Given the description of an element on the screen output the (x, y) to click on. 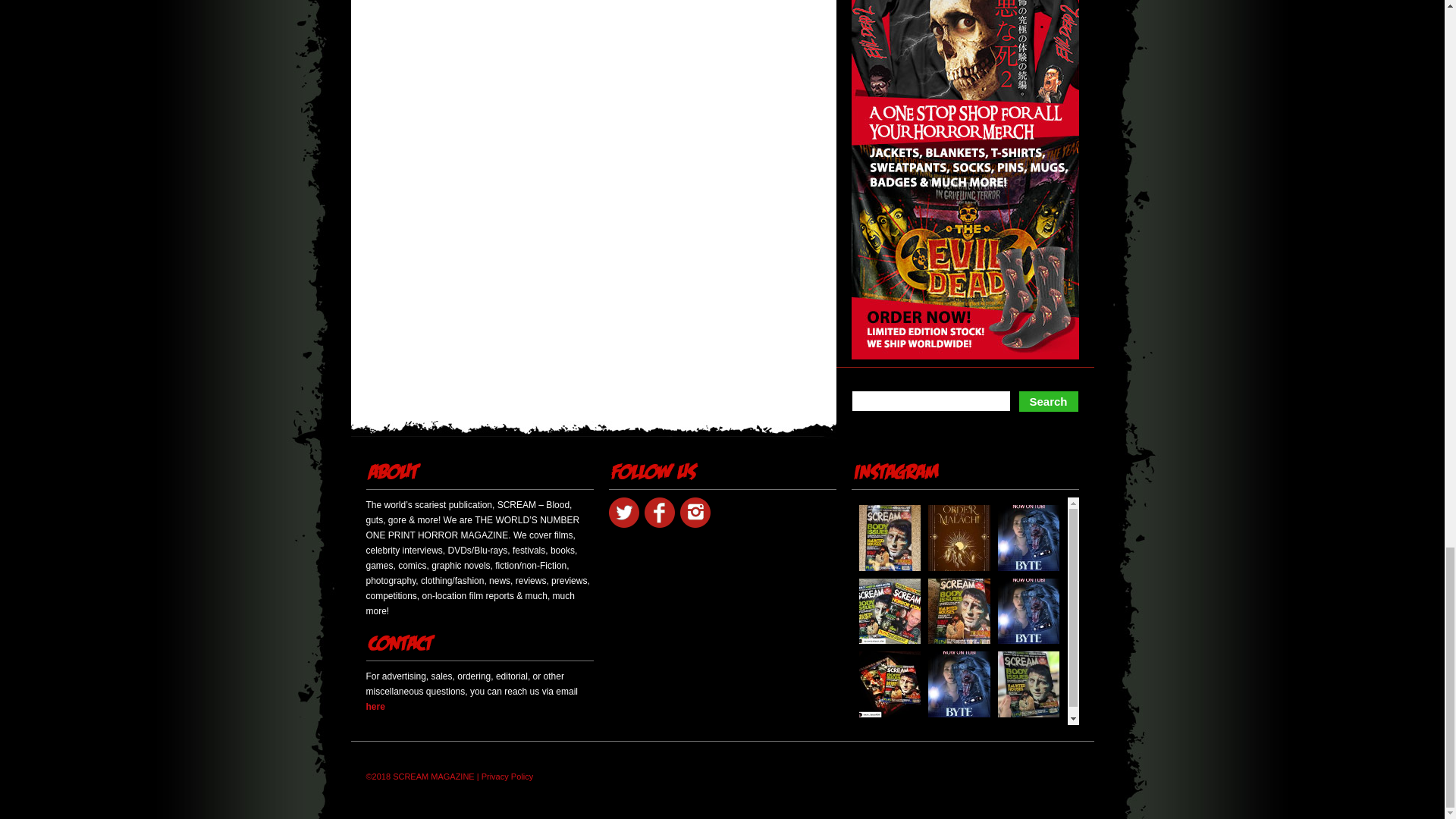
Search (1047, 401)
Privacy Policy (506, 776)
Search (1047, 401)
here (374, 706)
